Given the description of an element on the screen output the (x, y) to click on. 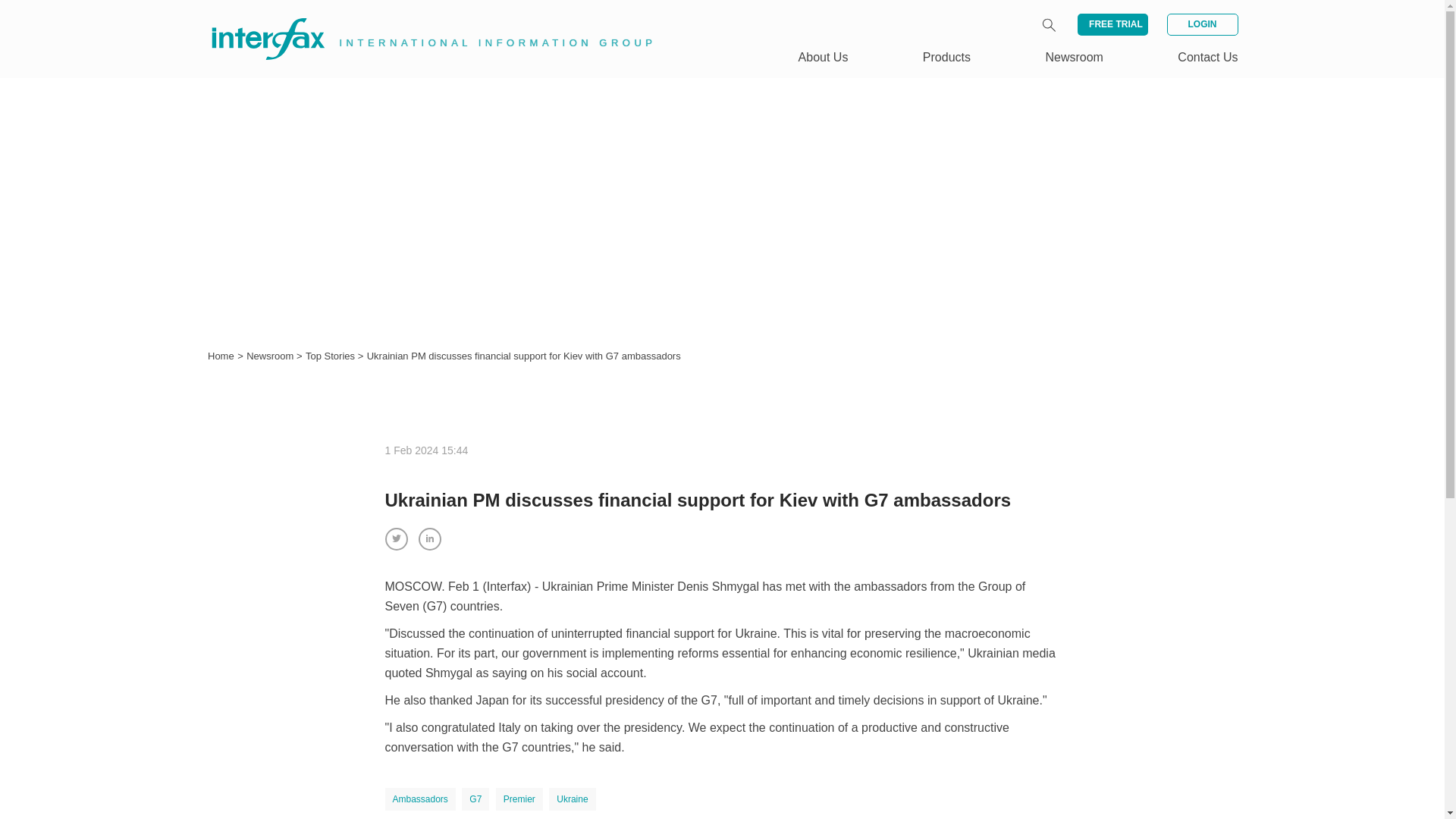
G7 (475, 798)
FREE TRIAL (1112, 24)
Contact Us (1207, 56)
Top Stories (331, 355)
Premier (519, 798)
Contact Us (1207, 56)
INTERNATIONAL INFORMATION GROUP (421, 20)
LOGIN (1201, 24)
Ambassadors (420, 798)
Home (221, 355)
